Given the description of an element on the screen output the (x, y) to click on. 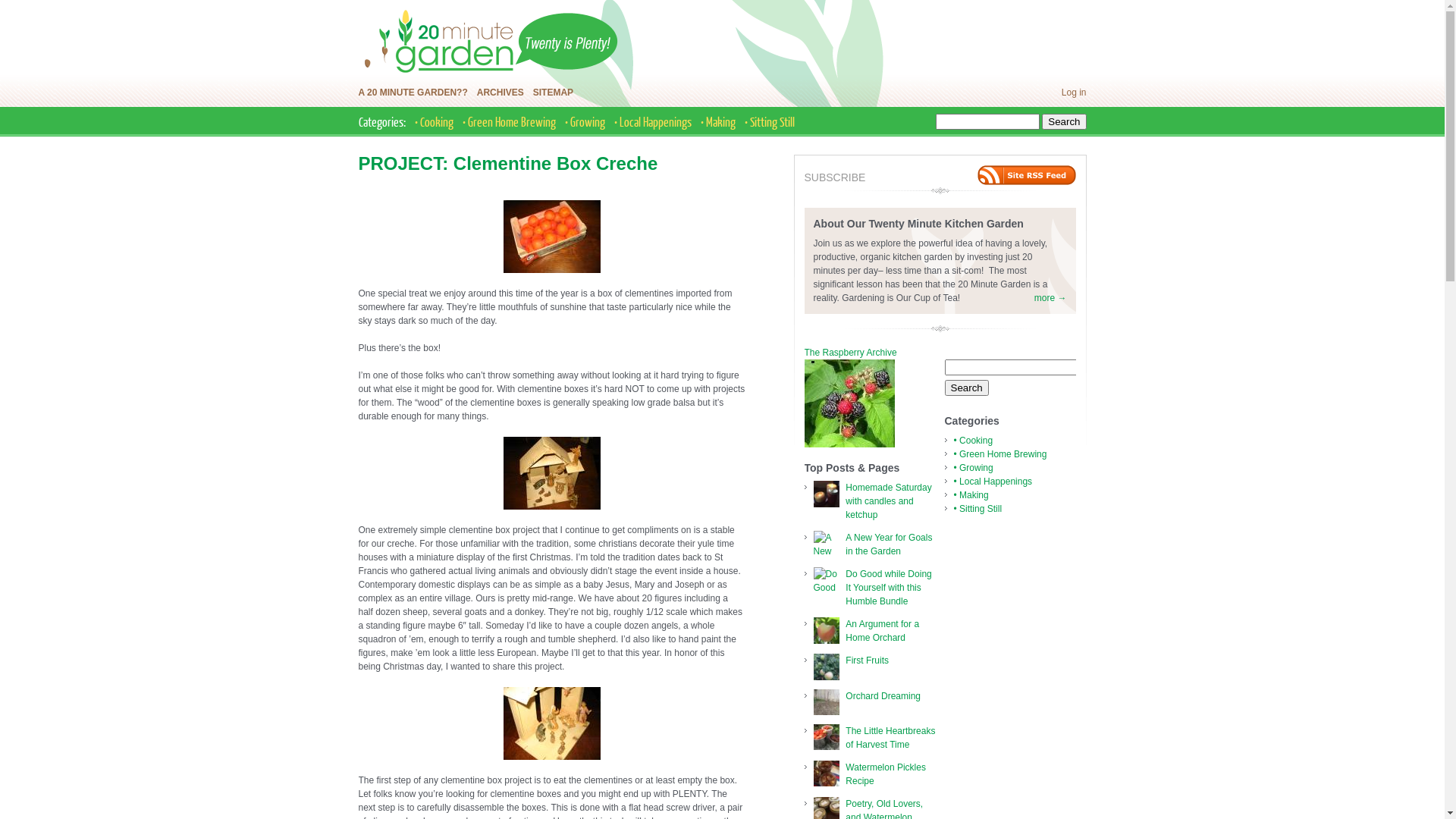
Search Element type: text (966, 387)
RSS 2.0 feed for posts Element type: hover (1025, 175)
Homemade Saturday with candles and ketchup Element type: text (888, 501)
PROJECT: Clementine Box Creche Element type: text (507, 163)
SITEMAP Element type: text (553, 92)
Log in Element type: text (1073, 92)
creche3.JPG Element type: hover (551, 756)
A 20 MINUTE GARDEN?? Element type: text (412, 92)
Do Good while Doing It Yourself with this Humble Bundle Element type: text (888, 587)
creche2.JPG Element type: hover (551, 506)
An Argument for a Home Orchard Element type: text (882, 630)
Orchard Dreaming Element type: text (882, 695)
Watermelon Pickles Recipe Element type: text (885, 774)
ARCHIVES Element type: text (500, 92)
The Raspberry Archive Element type: text (849, 352)
Search Element type: text (1063, 121)
A New Year for Goals in the Garden Element type: text (888, 544)
The Little Heartbreaks of Harvest Time Element type: text (890, 737)
First Fruits Element type: text (866, 660)
Black Raspberries Element type: hover (848, 403)
